Given the description of an element on the screen output the (x, y) to click on. 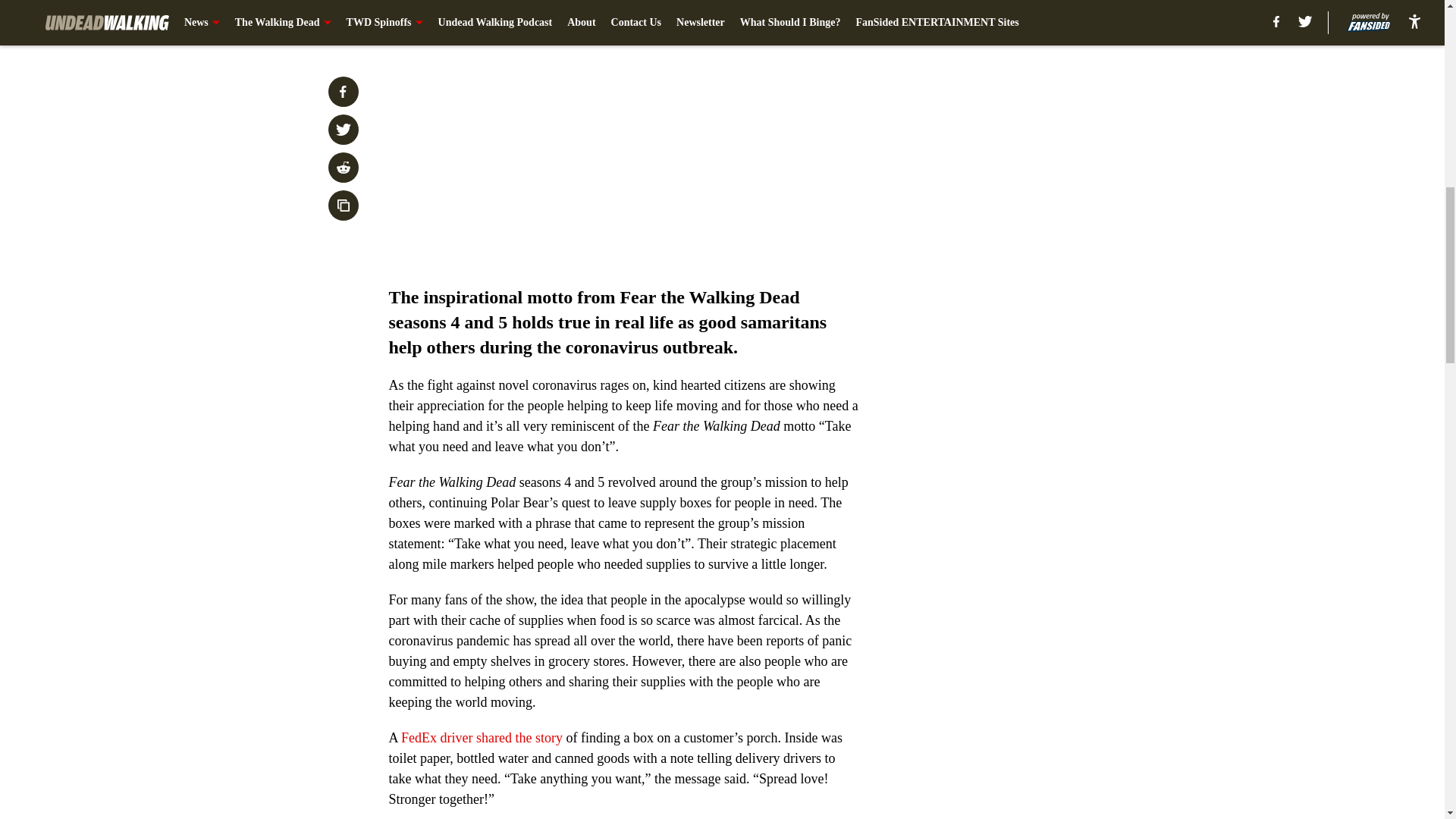
FedEx driver shared the story (481, 737)
